Given the description of an element on the screen output the (x, y) to click on. 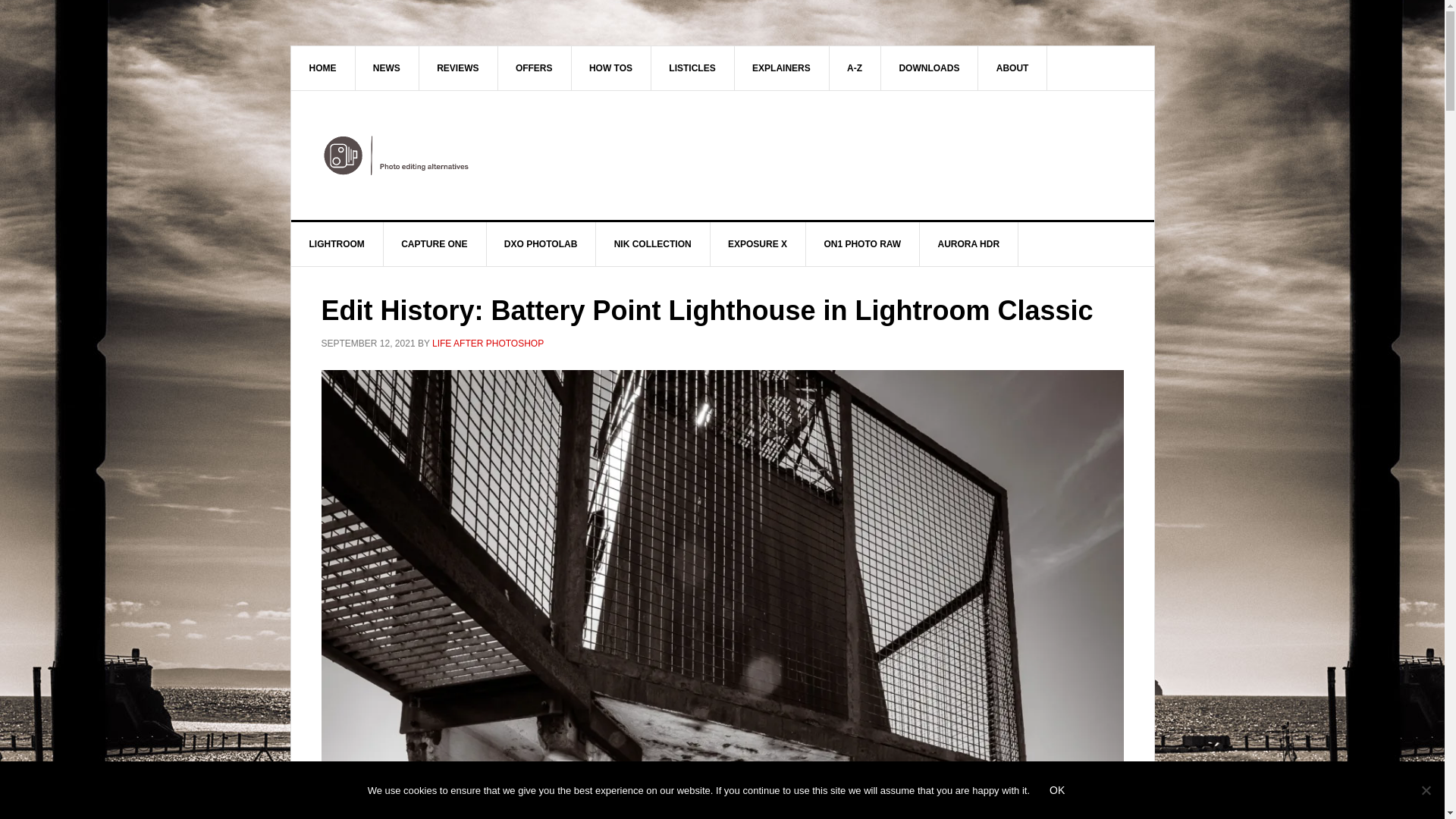
DOWNLOADS (929, 67)
LISTICLES (691, 67)
CAPTURE ONE (434, 243)
NIK COLLECTION (652, 243)
OFFERS (534, 67)
A-Z (854, 67)
EXPLAINERS (781, 67)
AURORA HDR (969, 243)
ON1 PHOTO RAW (862, 243)
DXO PHOTOLAB (540, 243)
HOW TOS (610, 67)
LIFE AFTER PHOTOSHOP (487, 343)
EXPOSURE X (758, 243)
LIGHTROOM (337, 243)
